Given the description of an element on the screen output the (x, y) to click on. 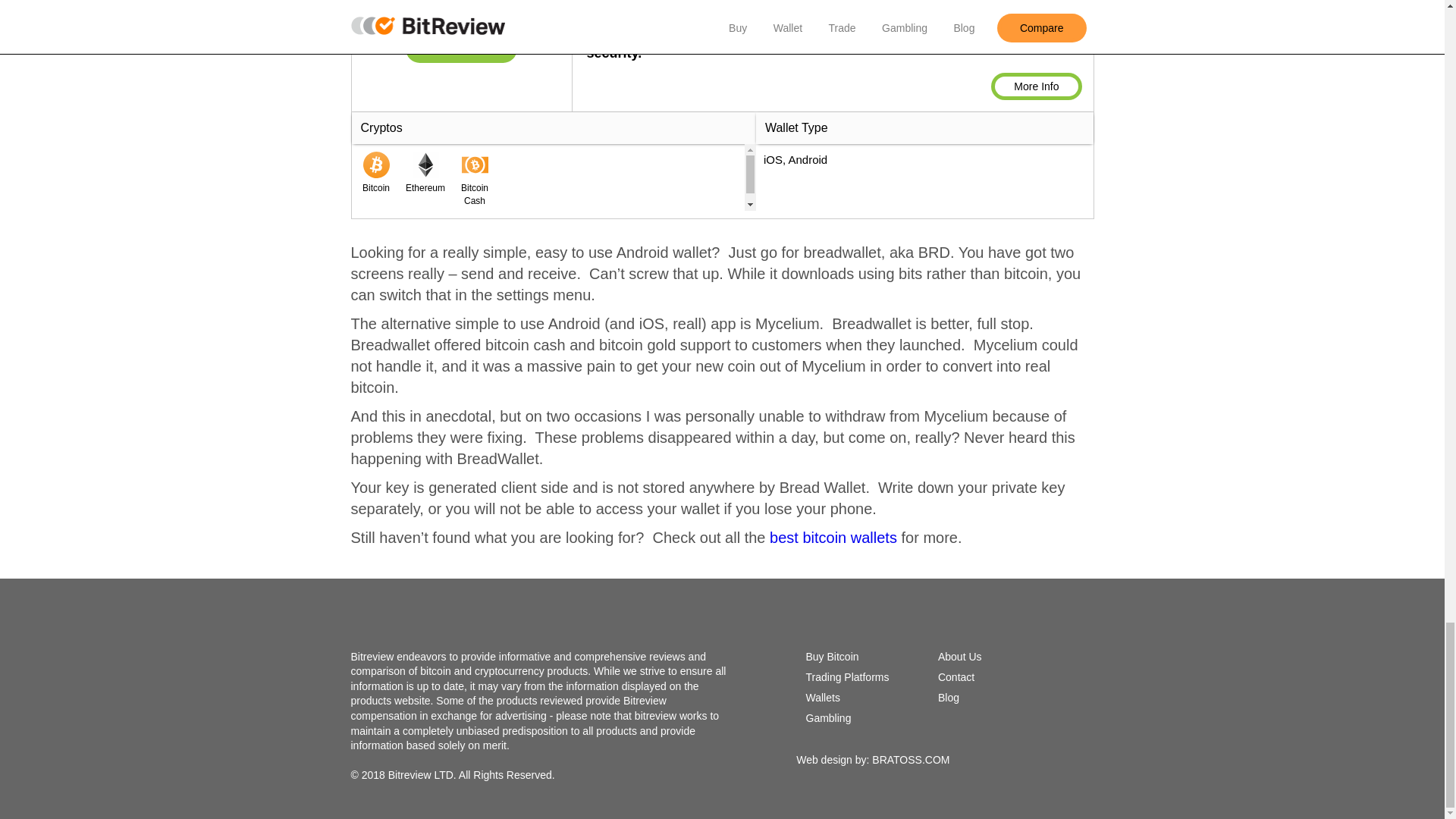
breadwallet (461, 48)
